Given the description of an element on the screen output the (x, y) to click on. 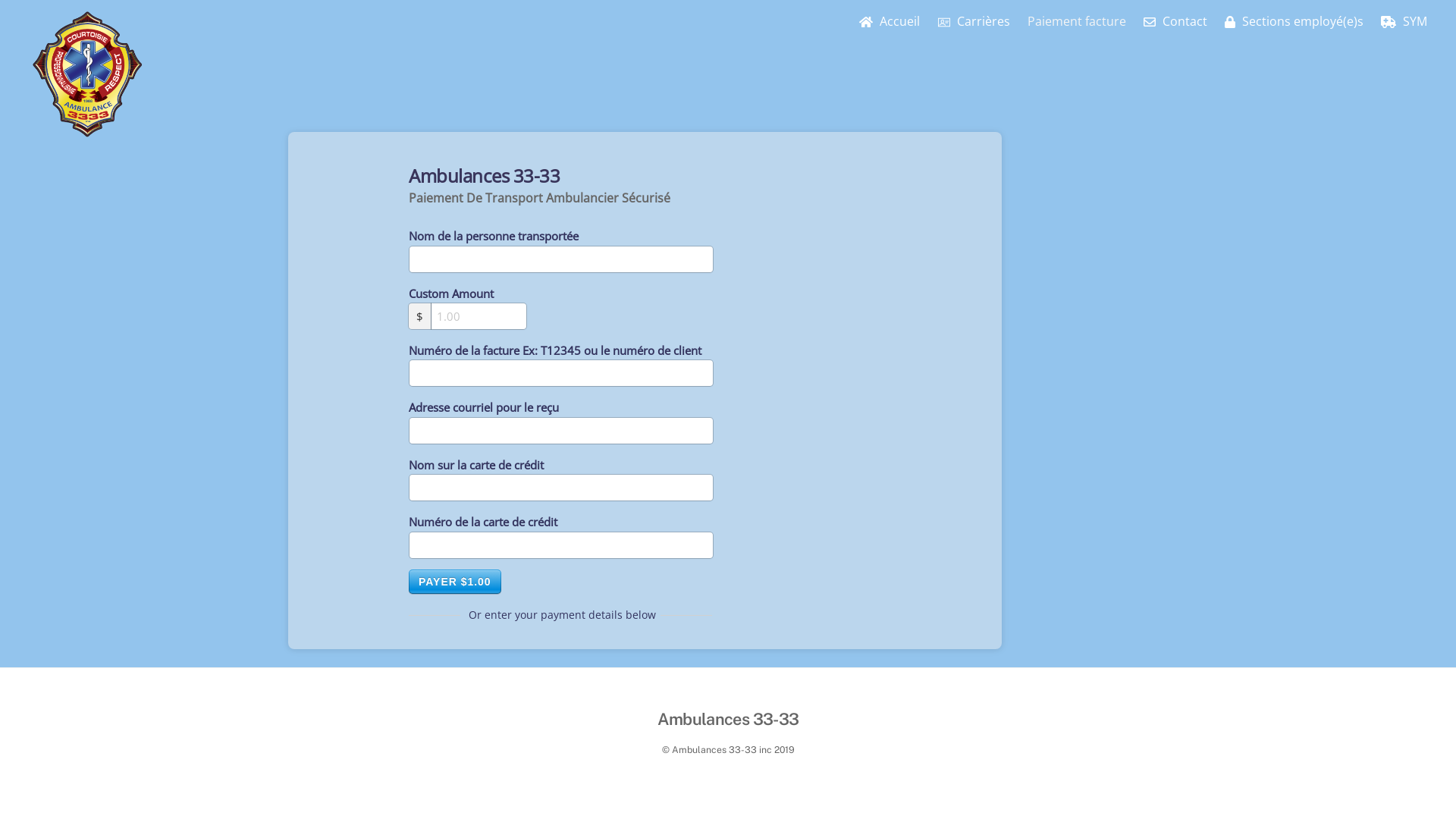
Accueil Element type: text (889, 20)
Paiement facture Element type: text (1075, 20)
Ambulances 33-33 Element type: text (728, 718)
SYM Element type: text (1404, 20)
PAYER $1.00 Element type: text (454, 581)
logo_camion_officiel_(2) Element type: hover (87, 73)
Contact Element type: text (1174, 20)
Ambulances 33-33 Element type: hover (87, 132)
